Given the description of an element on the screen output the (x, y) to click on. 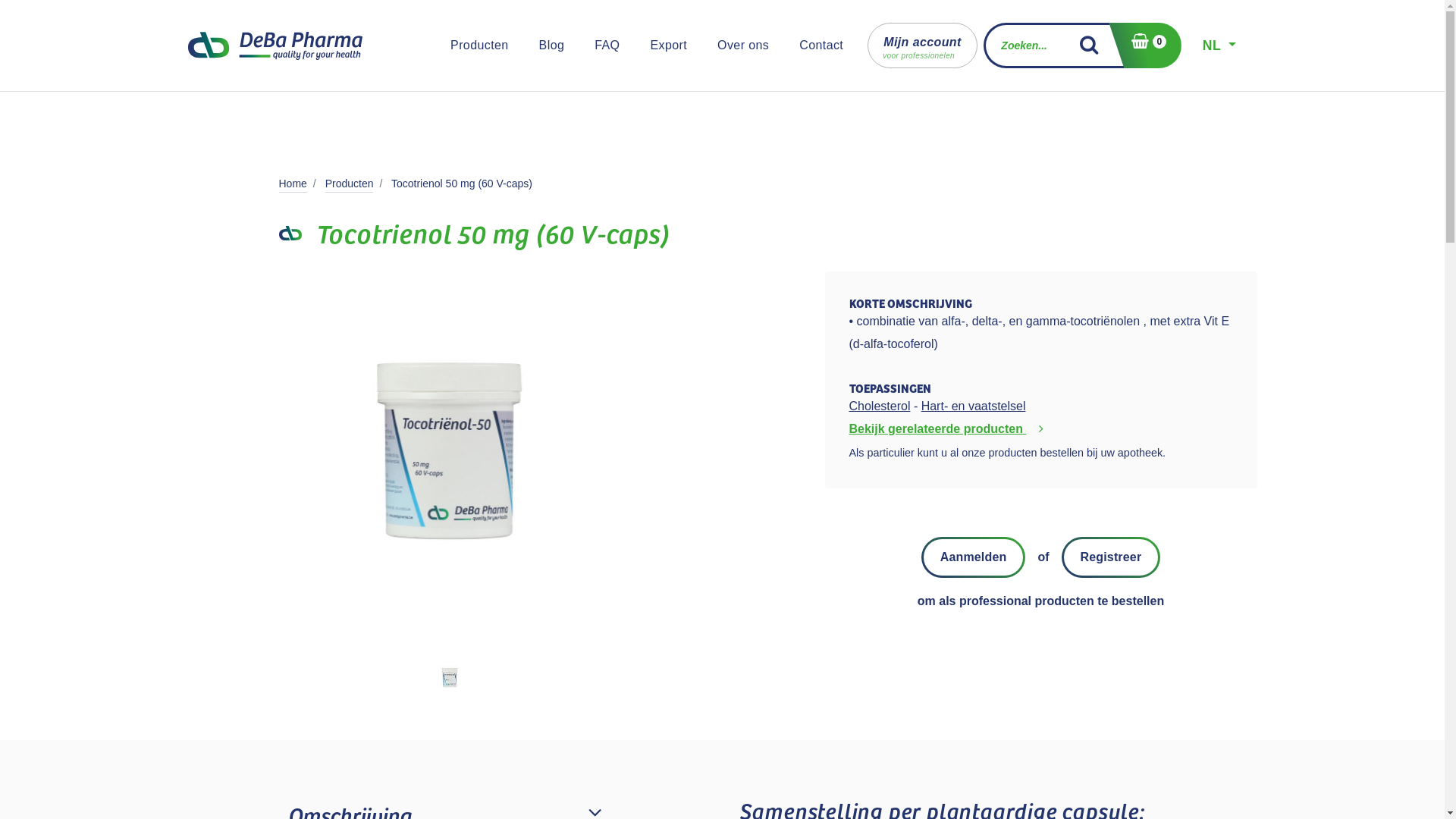
Cholesterol Element type: text (879, 405)
Registreer Element type: text (1111, 556)
Zoek Element type: hover (1094, 45)
NL Element type: text (1218, 45)
FAQ Element type: text (606, 45)
Contact Element type: text (821, 45)
Home Element type: text (293, 183)
Hart- en vaatstelsel Element type: text (973, 405)
Mijn account
voor professionelen Element type: text (922, 45)
Blog Element type: text (552, 45)
Producten Element type: text (349, 183)
0 Element type: text (1144, 45)
Bekijk gerelateerde producten Element type: text (949, 428)
Over ons Element type: text (743, 45)
Aanmelden Element type: text (973, 556)
Producten Element type: text (479, 45)
Export Element type: text (668, 45)
